Given the description of an element on the screen output the (x, y) to click on. 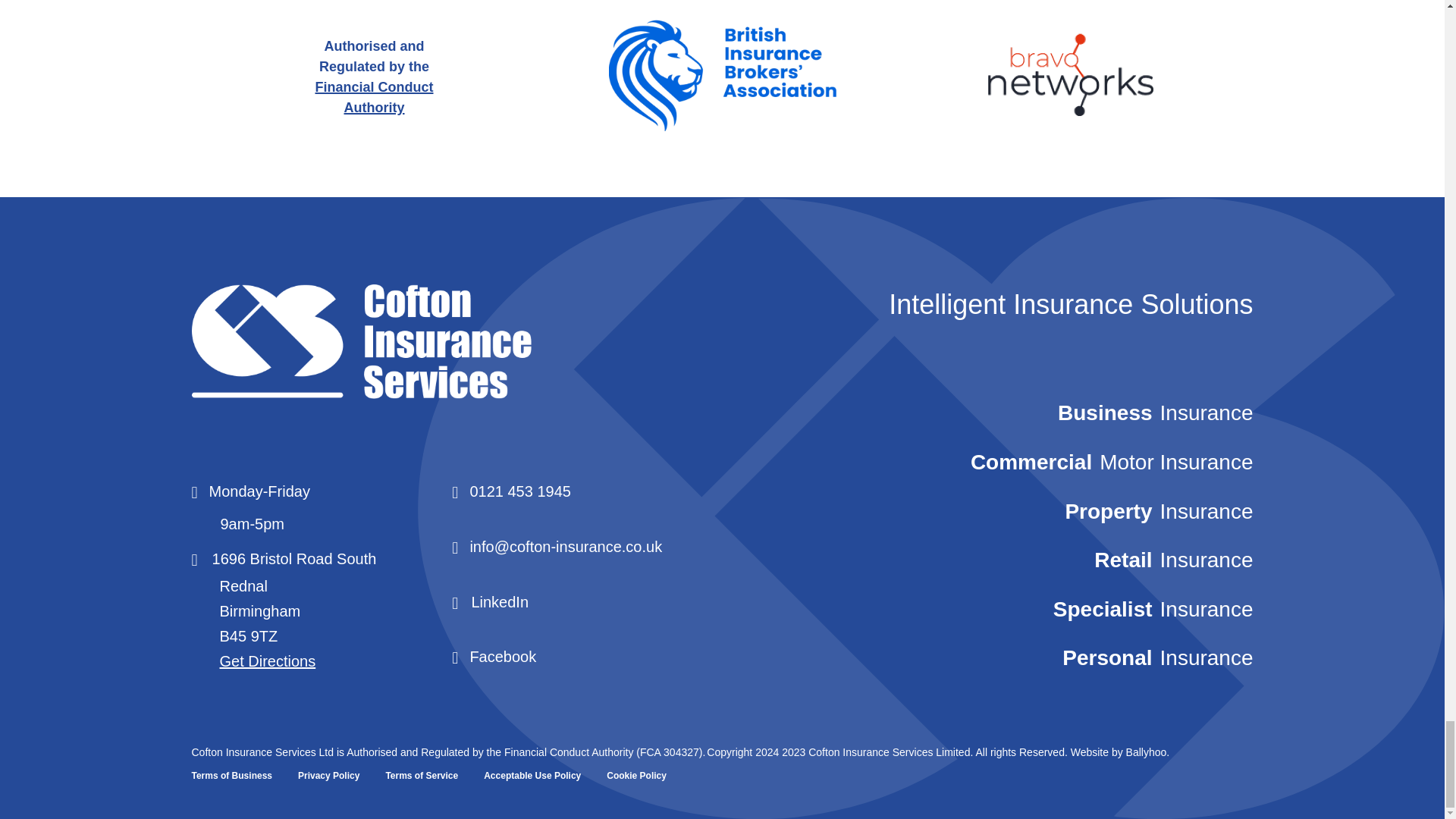
Cofton Insurance (426, 344)
Website by Ballyhoo (1146, 752)
BIBA (721, 77)
Bravo Networks (1070, 76)
